Given the description of an element on the screen output the (x, y) to click on. 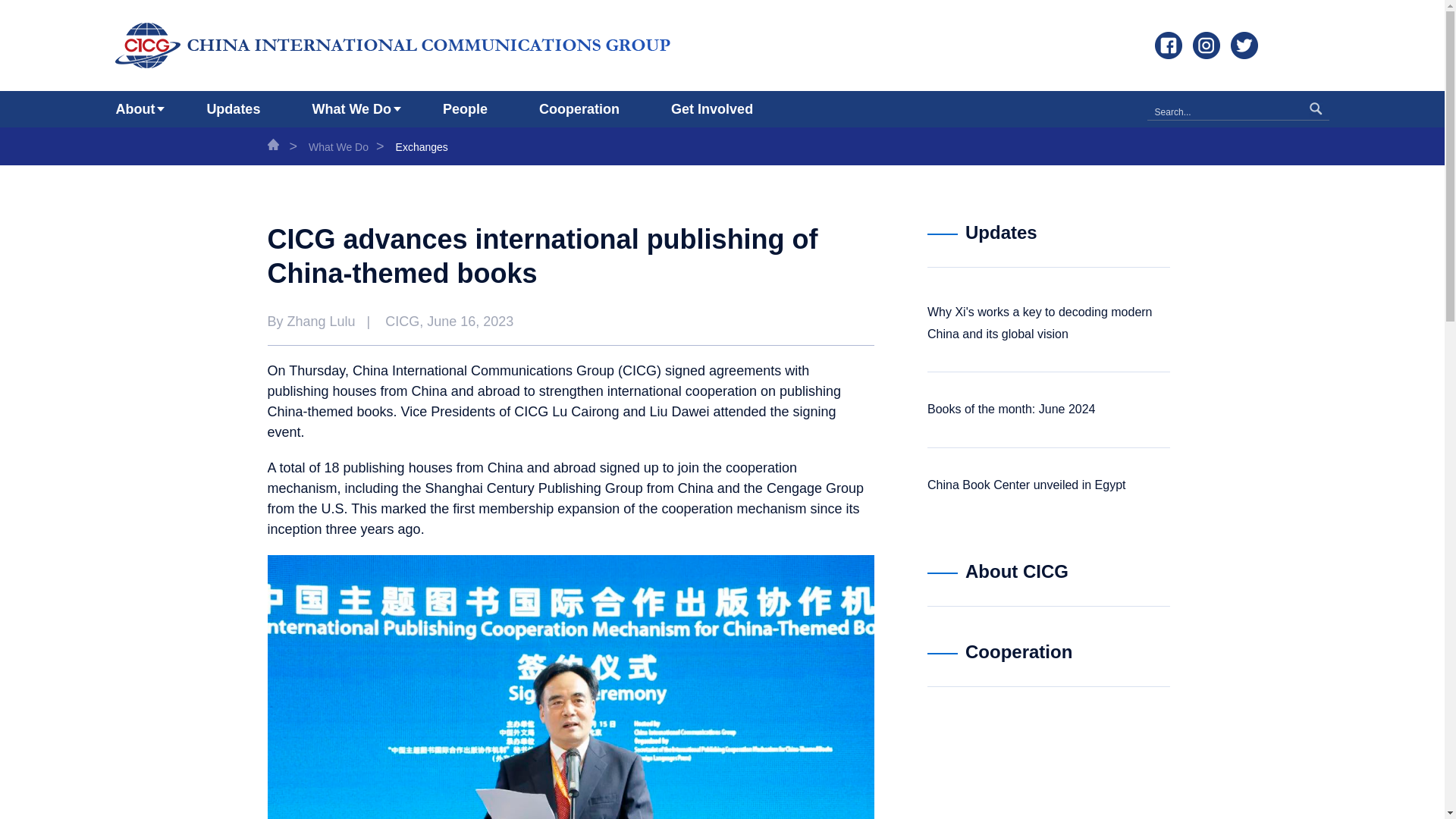
Exchanges (422, 146)
People (464, 109)
Get Involved (711, 109)
What We Do (351, 109)
What We Do (338, 146)
Updates (233, 109)
About (134, 109)
Cooperation (579, 109)
